Given the description of an element on the screen output the (x, y) to click on. 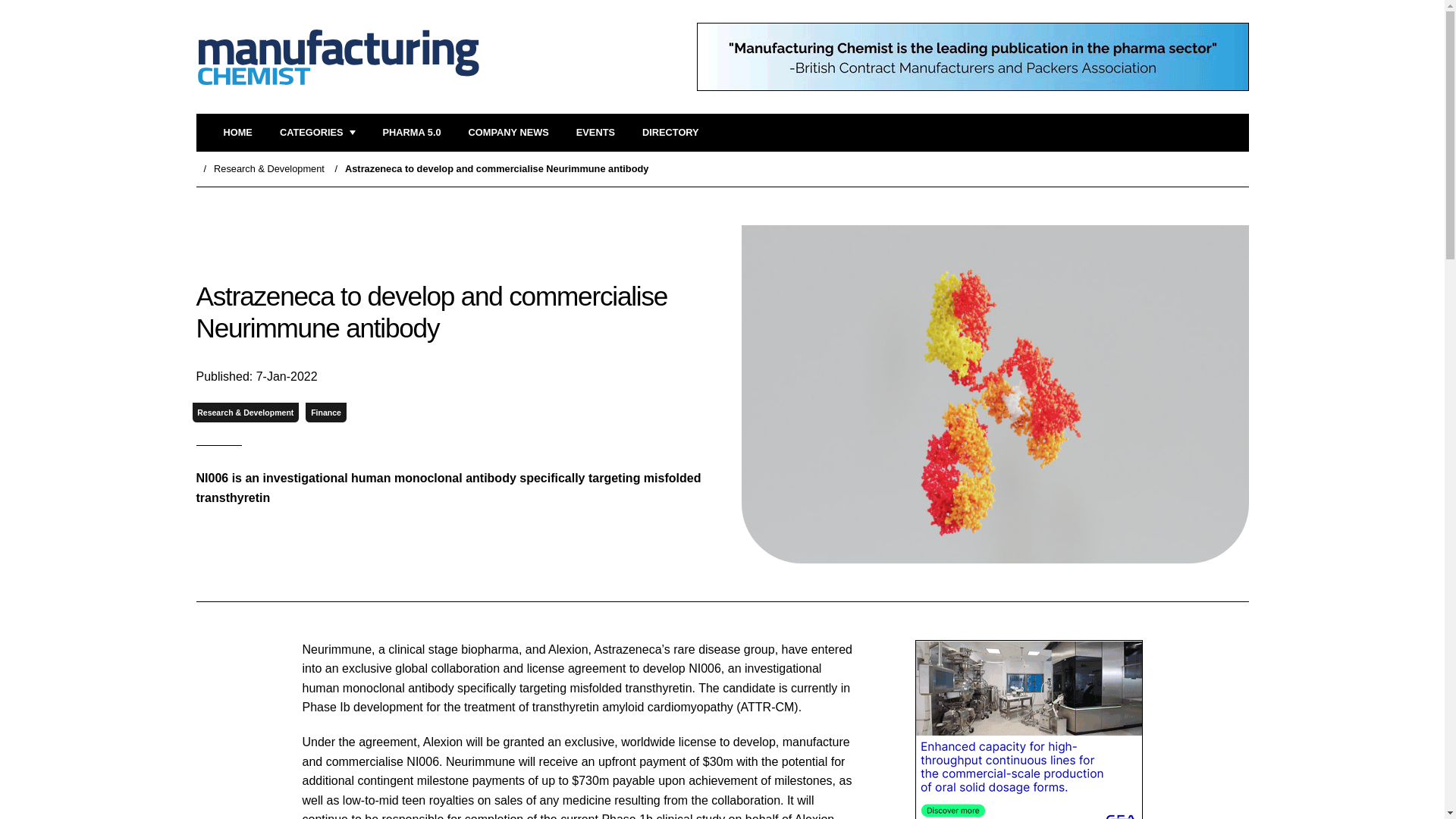
DIRECTORY (670, 133)
HOME (236, 133)
Pharma 5.0 (411, 133)
CATEGORIES (317, 133)
Finance (325, 412)
COMPANY NEWS (508, 133)
Directory (670, 133)
EVENTS (595, 133)
PHARMA 5.0 (411, 133)
